Given the description of an element on the screen output the (x, y) to click on. 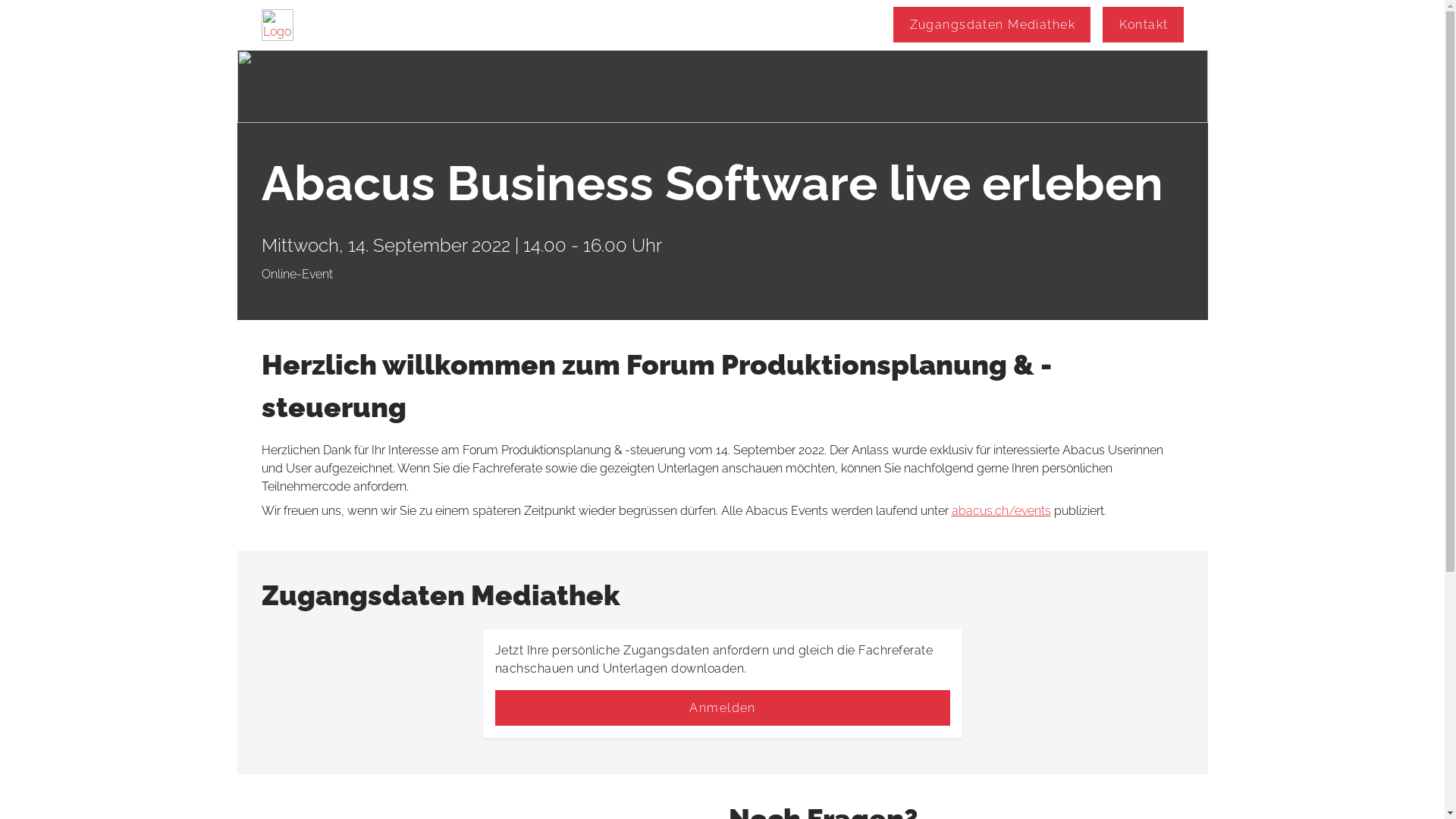
Kontakt Element type: text (1142, 24)
abacus.ch/events Element type: text (1000, 510)
Anmelden Element type: text (721, 707)
Zugangsdaten Mediathek Element type: text (991, 24)
